Given the description of an element on the screen output the (x, y) to click on. 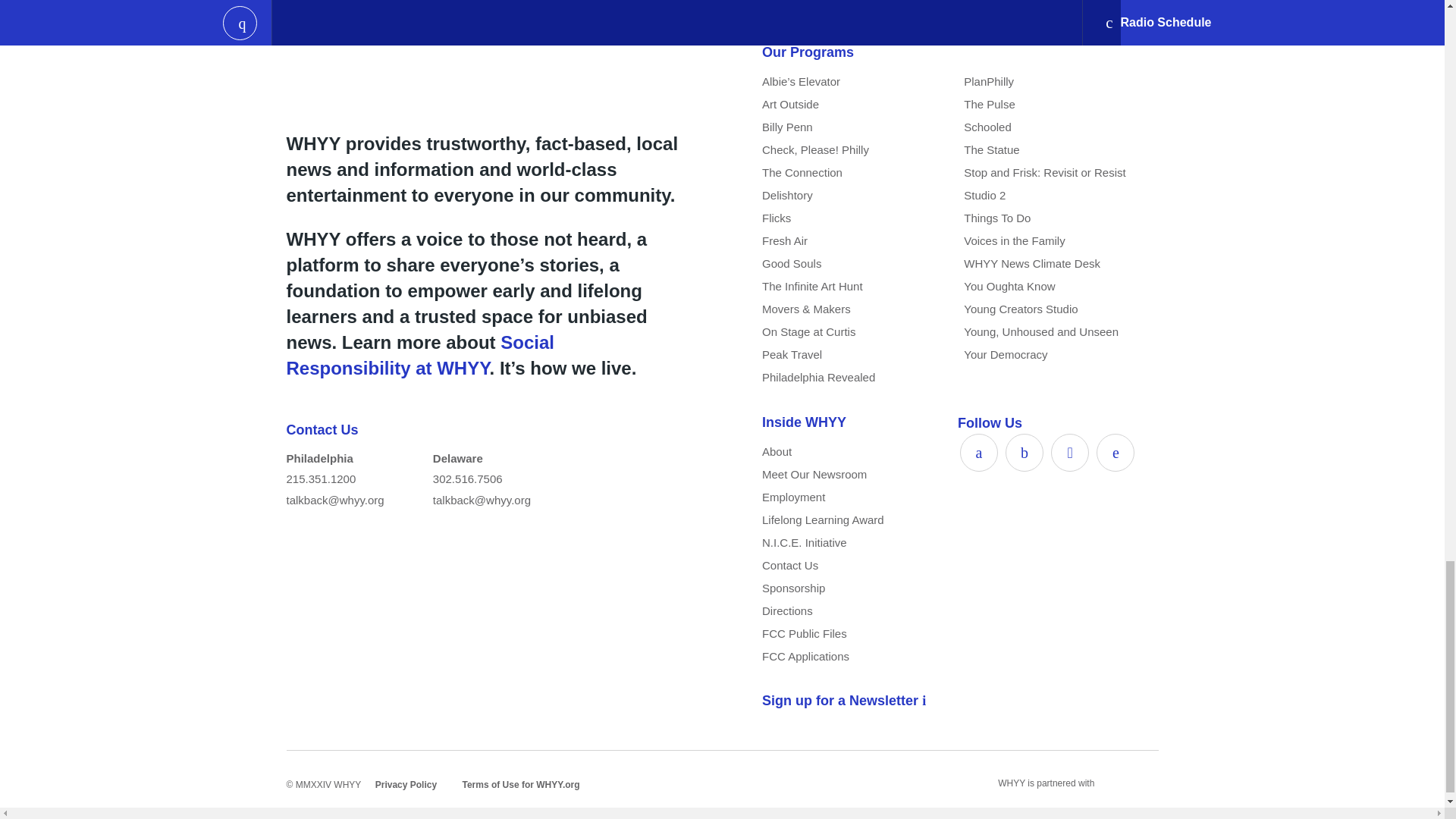
npr (1112, 783)
